Given the description of an element on the screen output the (x, y) to click on. 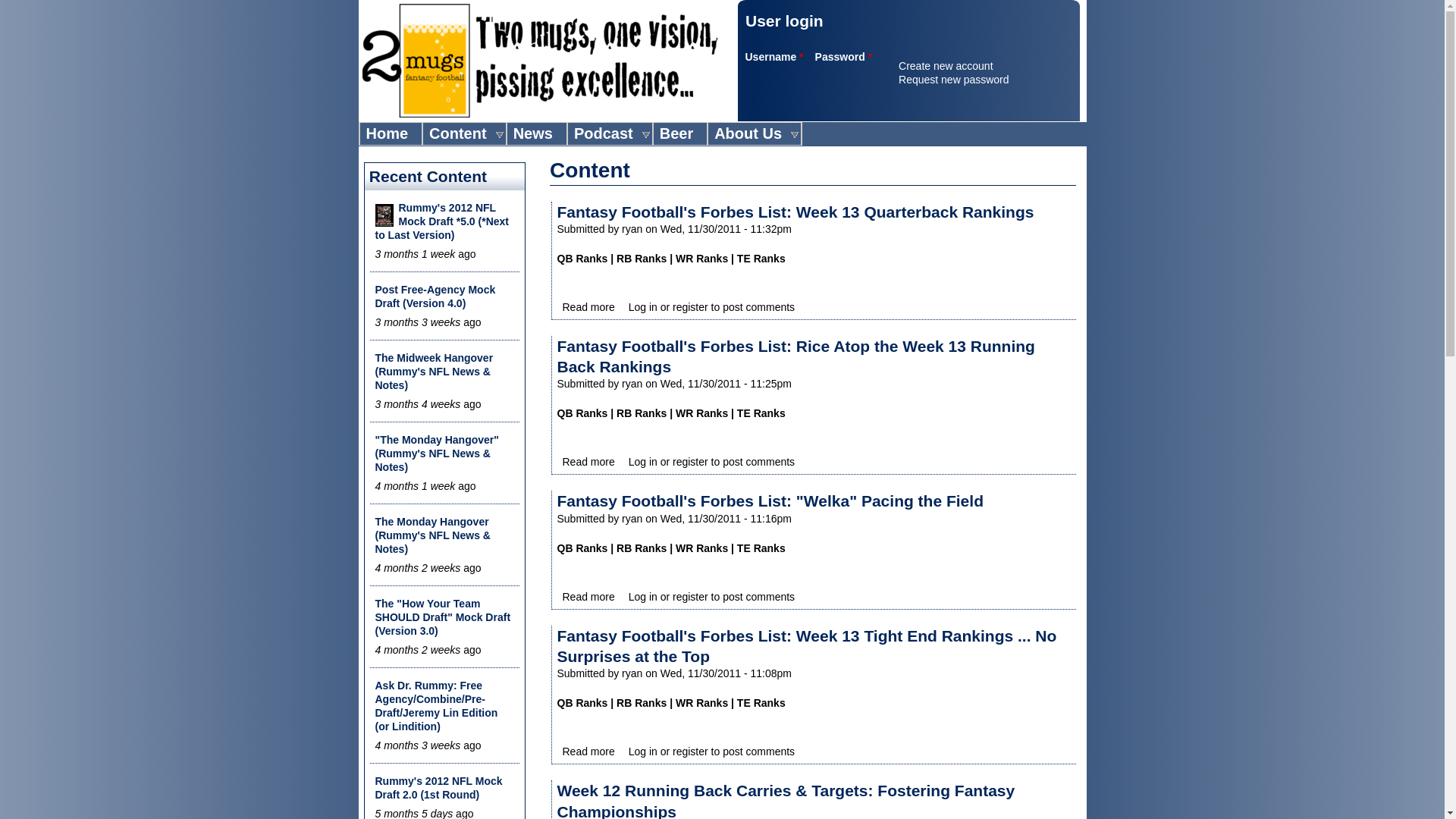
Podcast Element type: text (605, 133)
The Midweek Hangover (Rummy's NFL News & Notes) Element type: text (433, 371)
"The Monday Hangover" (Rummy's NFL News & Notes) Element type: text (436, 453)
Recent Content Element type: text (427, 176)
Beer Element type: text (676, 133)
Content Element type: text (460, 133)
Home Element type: hover (539, 61)
Post Free-Agency Mock Draft (Version 4.0) Element type: text (434, 296)
The Monday Hangover (Rummy's NFL News & Notes) Element type: text (431, 535)
The "How Your Team SHOULD Draft" Mock Draft (Version 3.0) Element type: text (442, 617)
Rummy's 2012 NFL Mock Draft 2.0 (1st Round) Element type: text (438, 787)
Home Element type: text (386, 133)
News Element type: text (532, 133)
About Us Element type: text (750, 133)
Rummy's 2012 NFL Mock Draft *5.0 (*Next to Last Version) Element type: text (441, 221)
